Given the description of an element on the screen output the (x, y) to click on. 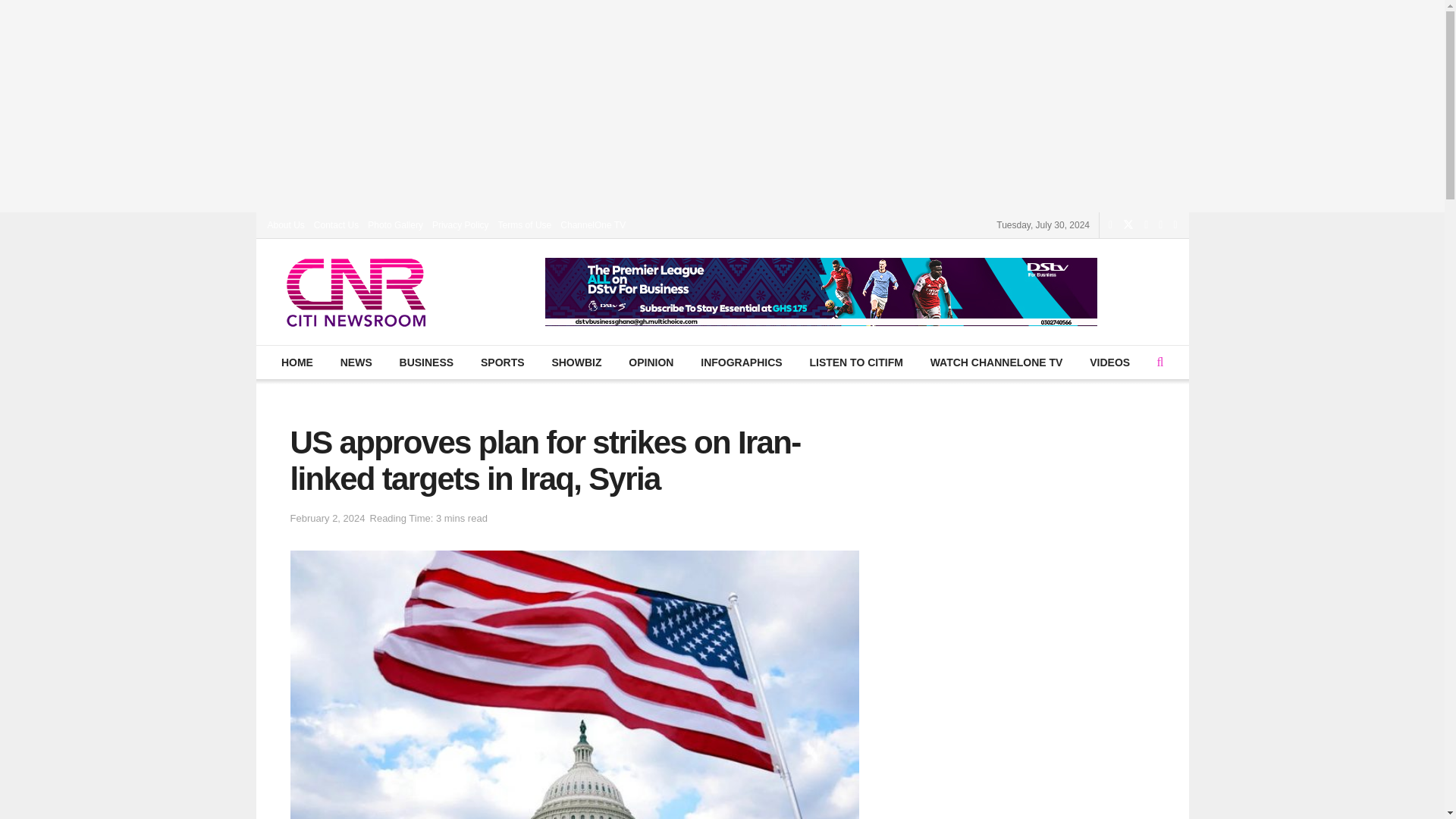
About Us (285, 225)
INFOGRAPHICS (740, 362)
WATCH CHANNELONE TV (996, 362)
OPINION (651, 362)
Privacy Policy (460, 225)
LISTEN TO CITIFM (855, 362)
SHOWBIZ (576, 362)
BUSINESS (425, 362)
NEWS (355, 362)
HOME (296, 362)
Contact Us (336, 225)
Terms of Use (524, 225)
SPORTS (502, 362)
Photo Gallery (395, 225)
